Given the description of an element on the screen output the (x, y) to click on. 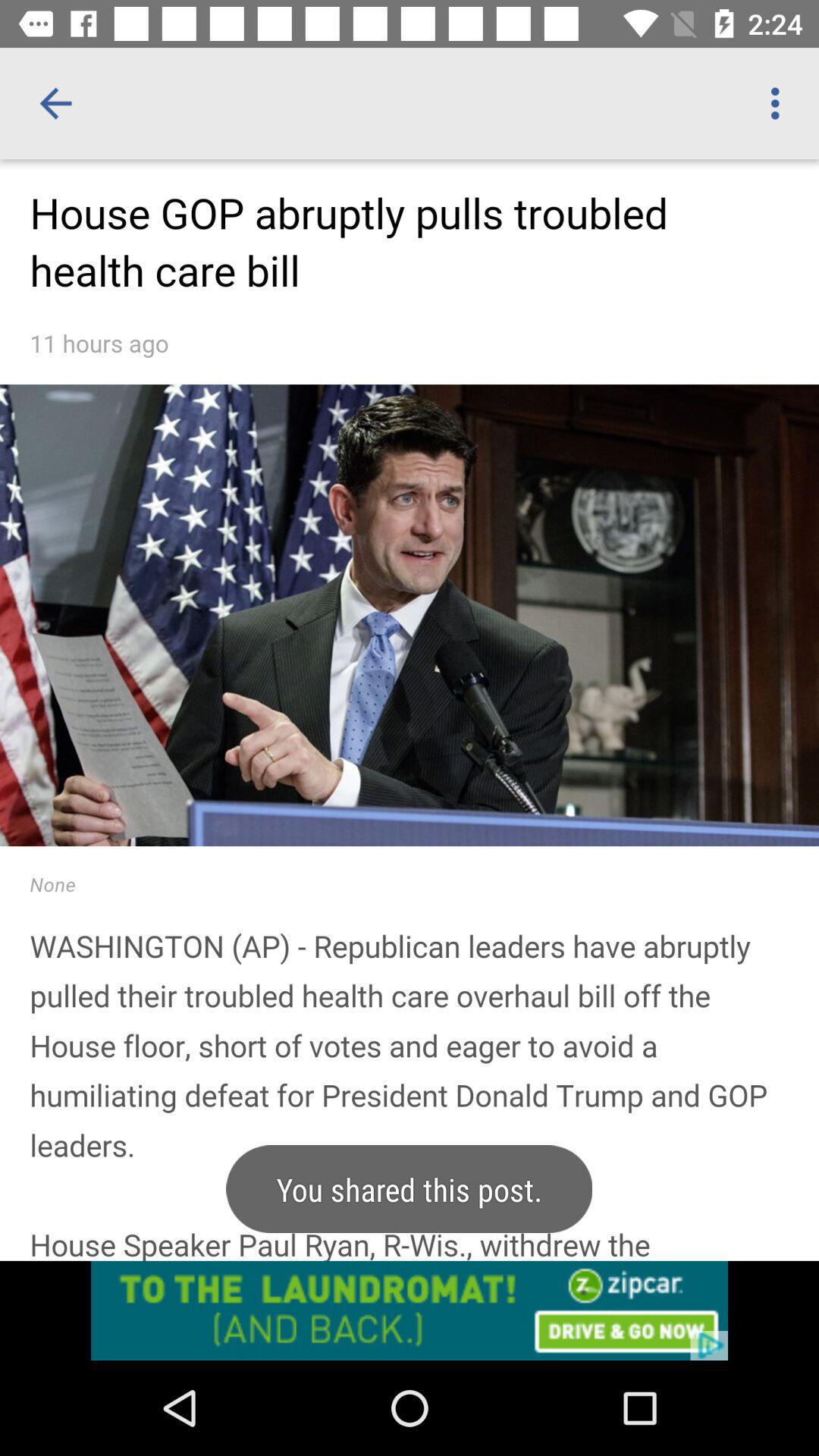
news article (409, 759)
